Given the description of an element on the screen output the (x, y) to click on. 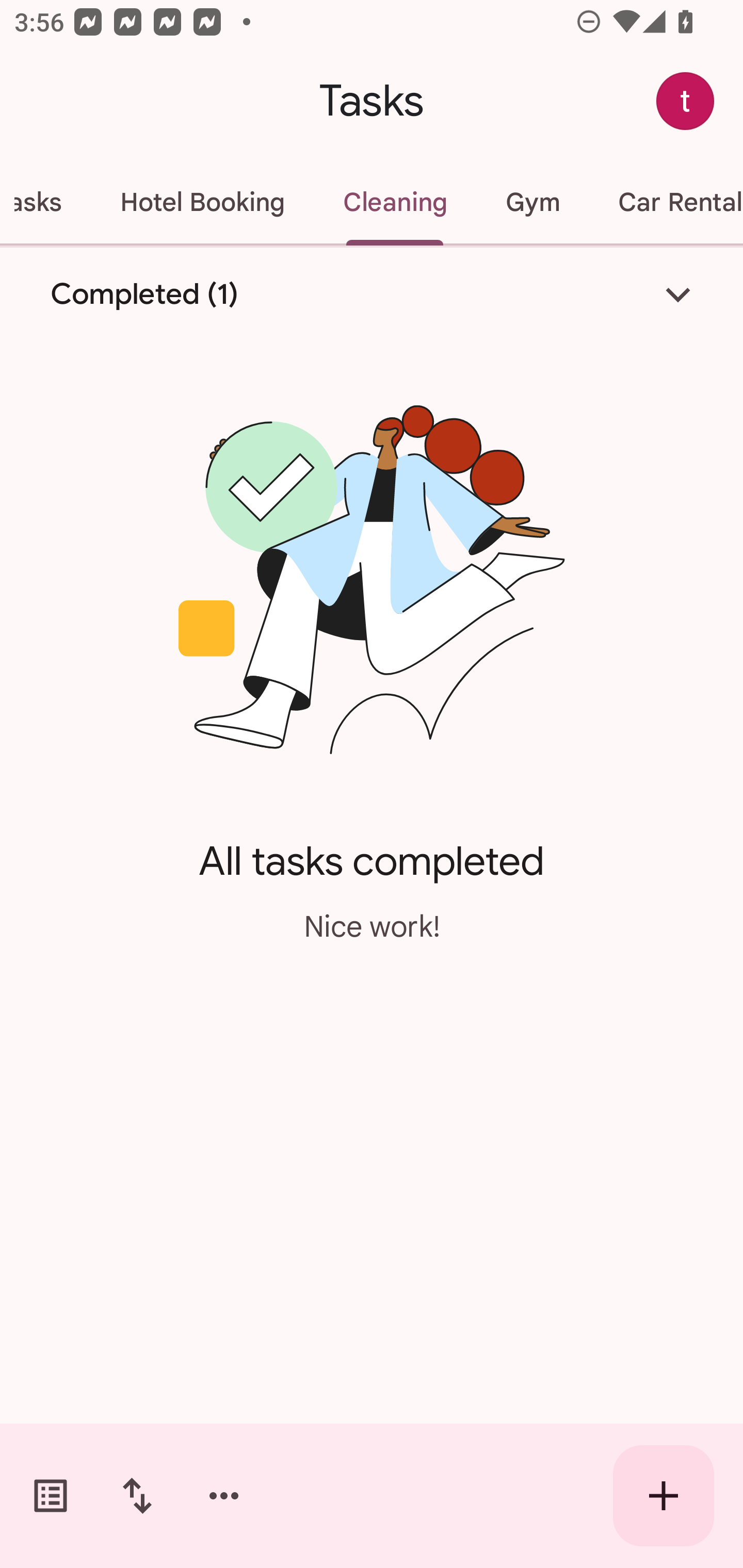
My Tasks (45, 202)
Hotel Booking (201, 202)
Gym (532, 202)
Car Rental (665, 202)
Completed (1) (371, 294)
Switch task lists (50, 1495)
Create new task (663, 1495)
Change sort order (136, 1495)
More options (223, 1495)
